Given the description of an element on the screen output the (x, y) to click on. 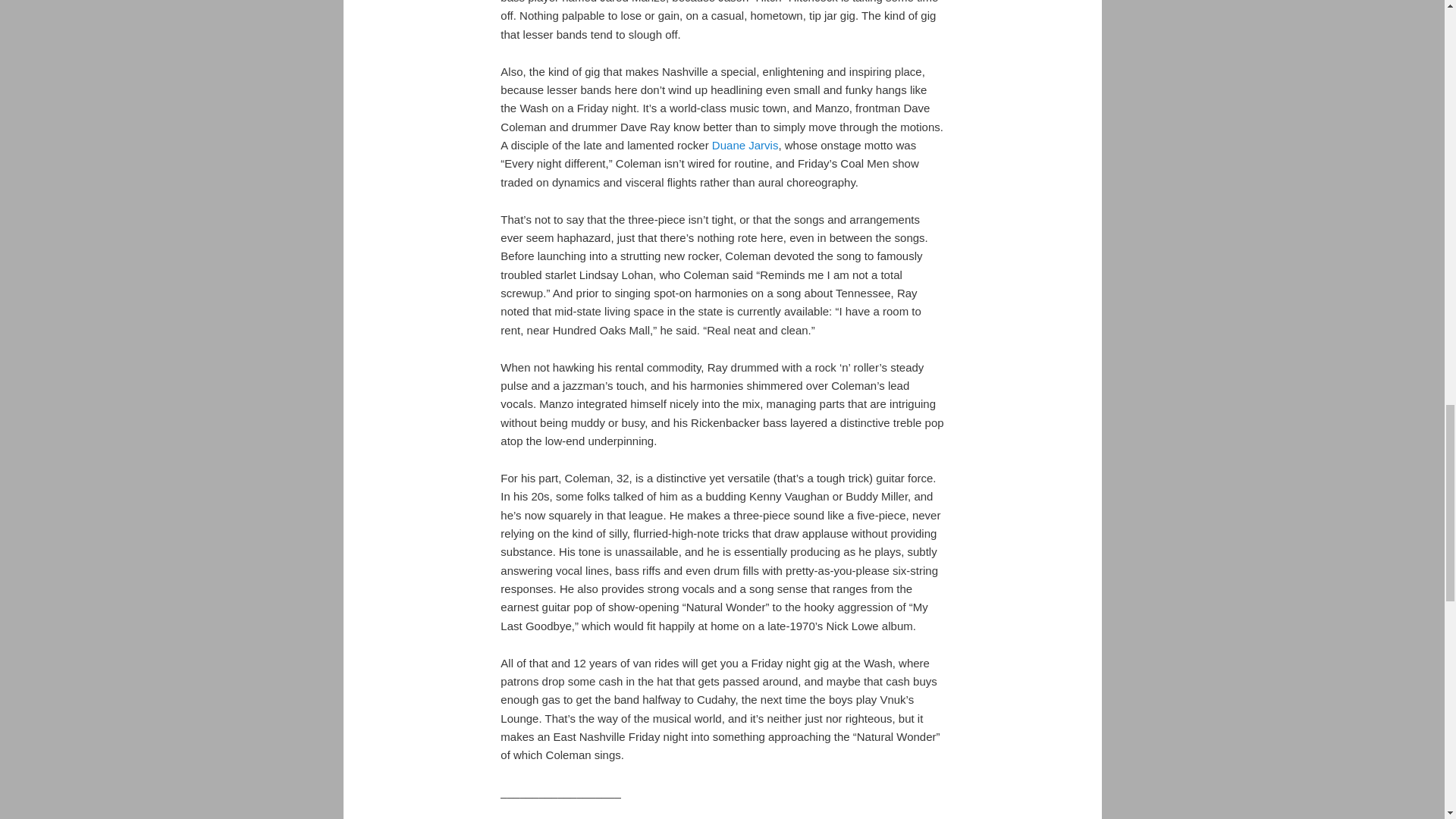
Duane Jarvis (744, 144)
DJ's Website (744, 144)
